Given the description of an element on the screen output the (x, y) to click on. 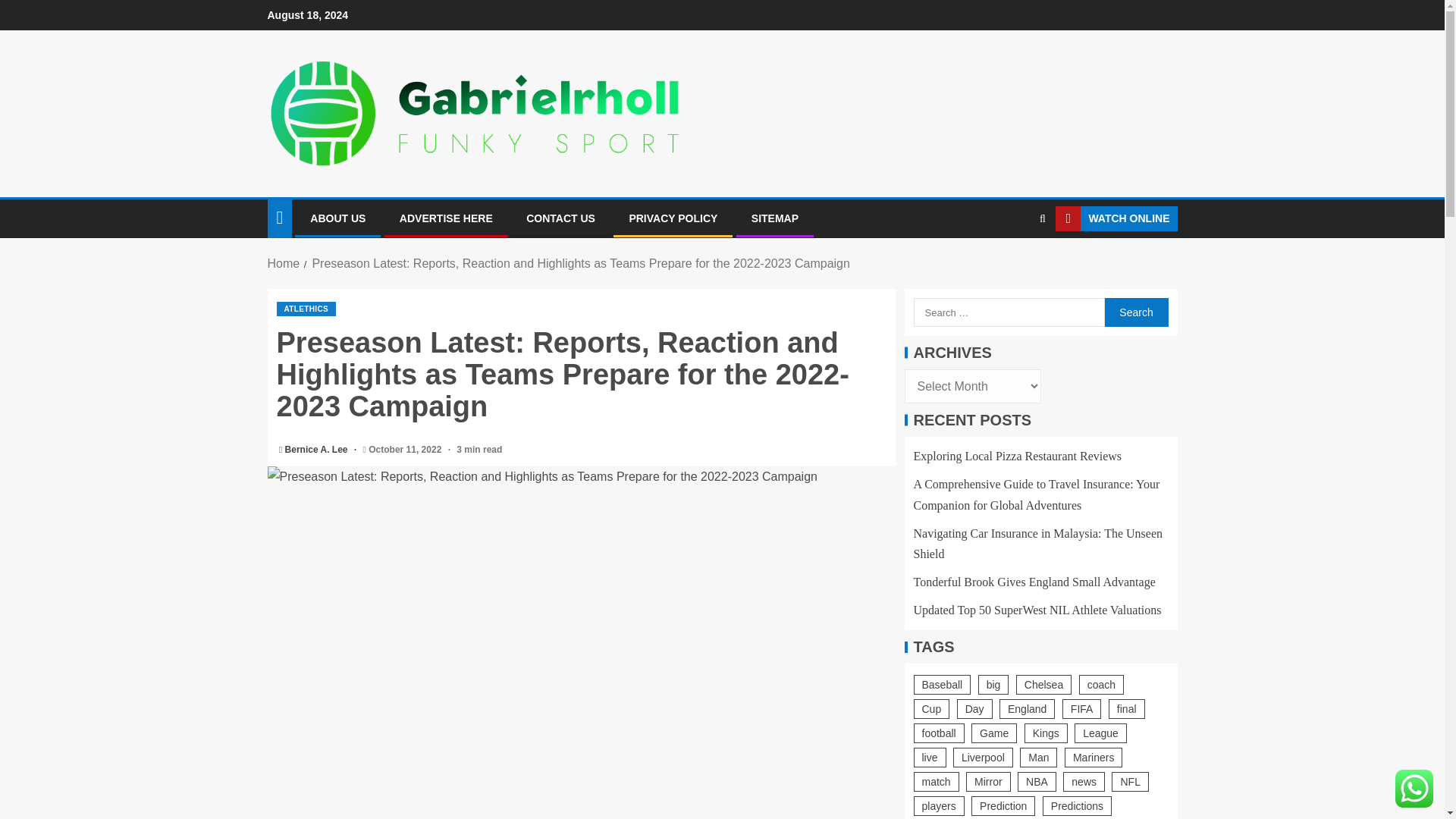
PRIVACY POLICY (672, 218)
Home (282, 263)
Search (1013, 265)
CONTACT US (560, 218)
Bernice A. Lee (317, 449)
WATCH ONLINE (1115, 218)
ABOUT US (337, 218)
ATLETHICS (306, 309)
Search (1135, 312)
Search (1135, 312)
